Given the description of an element on the screen output the (x, y) to click on. 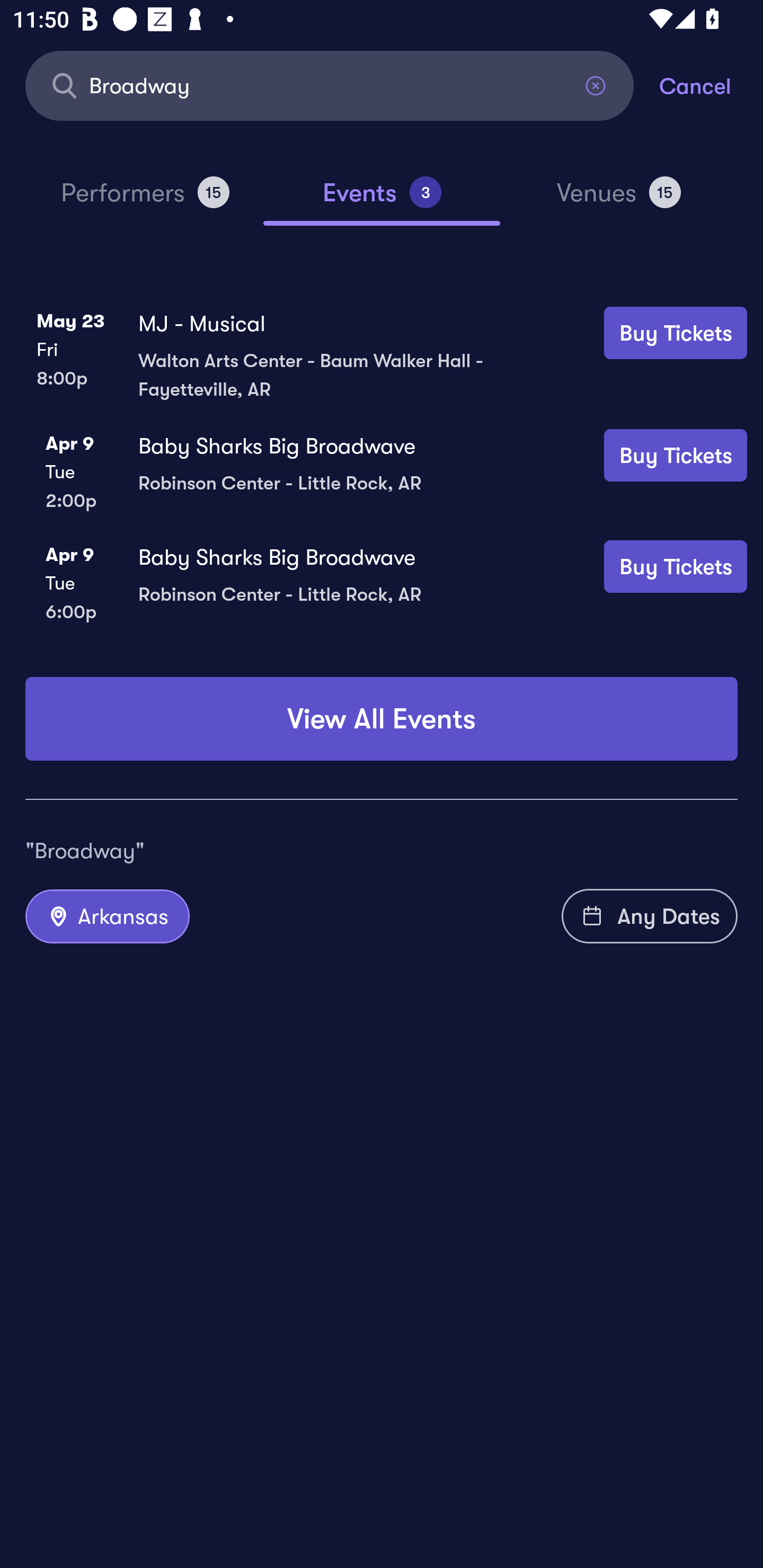
Broadway Find (329, 85)
Broadway Find (329, 85)
Cancel (711, 85)
Performers 15 (144, 200)
Events 3 (381, 200)
Venues 15 (618, 200)
View All Events (381, 718)
Any Dates (649, 916)
Arkansas (107, 916)
